Given the description of an element on the screen output the (x, y) to click on. 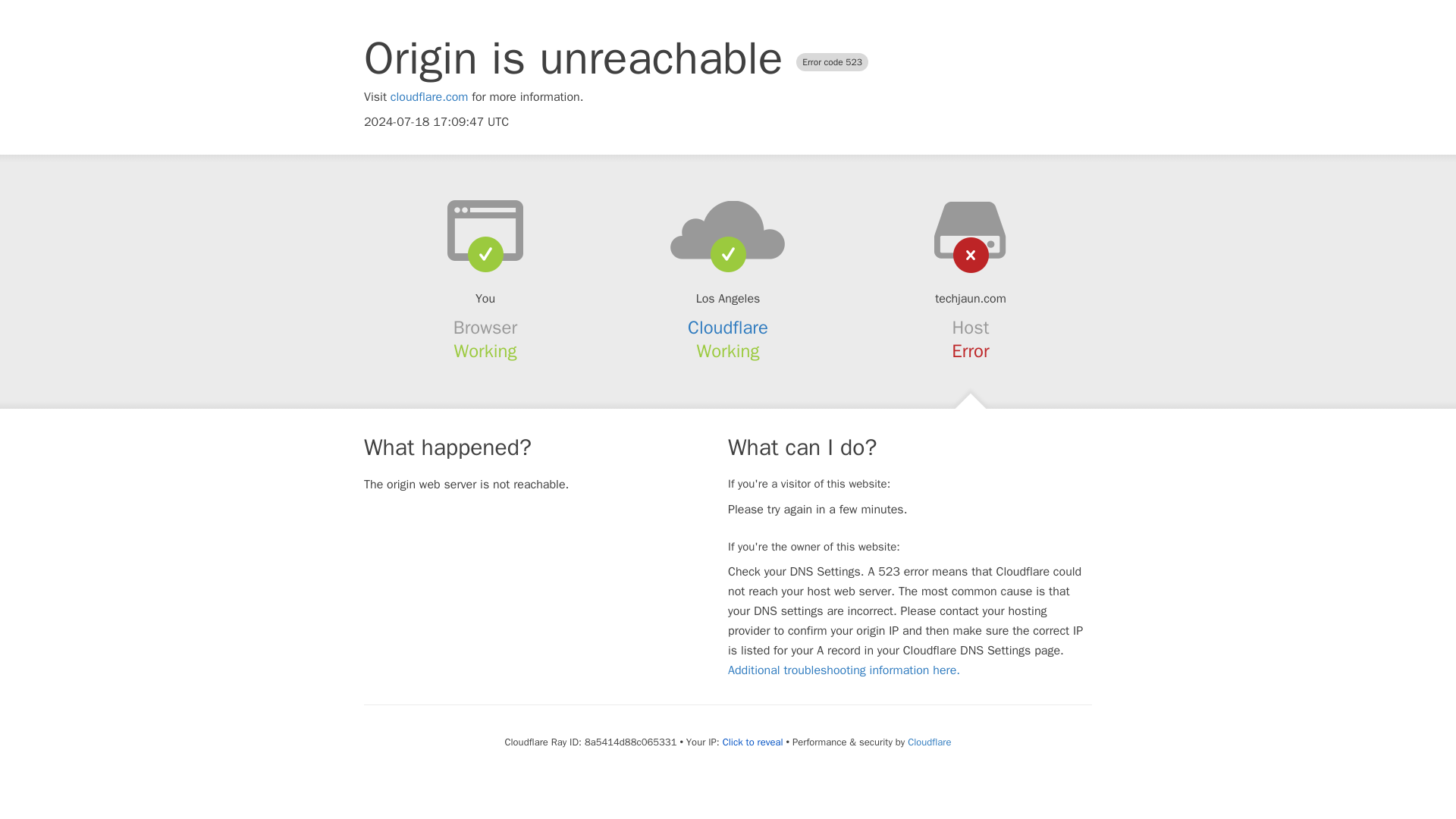
cloudflare.com (429, 96)
Cloudflare (928, 741)
Click to reveal (752, 742)
Cloudflare (727, 327)
Additional troubleshooting information here. (843, 670)
